Given the description of an element on the screen output the (x, y) to click on. 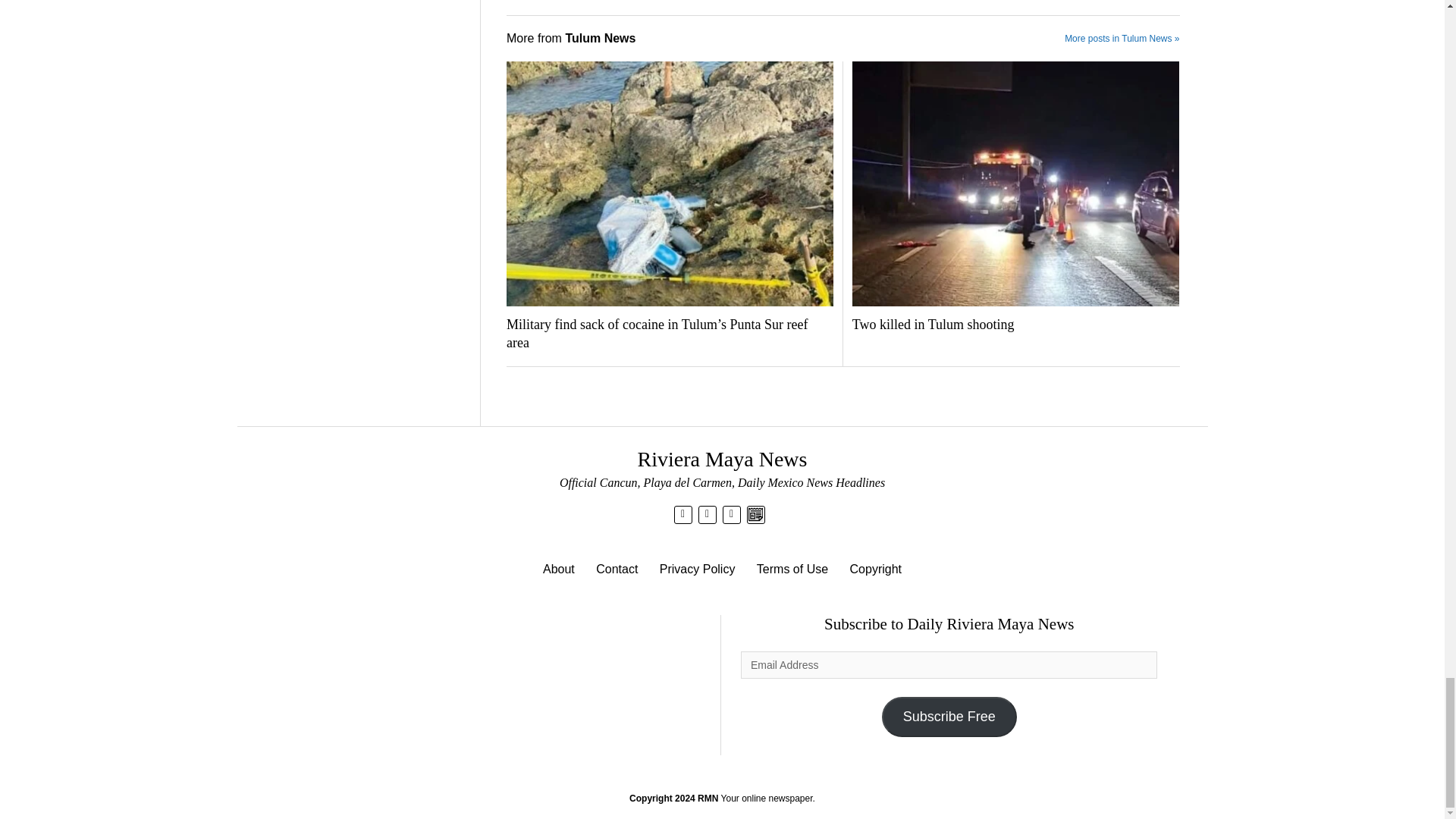
rss (731, 513)
facebook (706, 513)
